Given the description of an element on the screen output the (x, y) to click on. 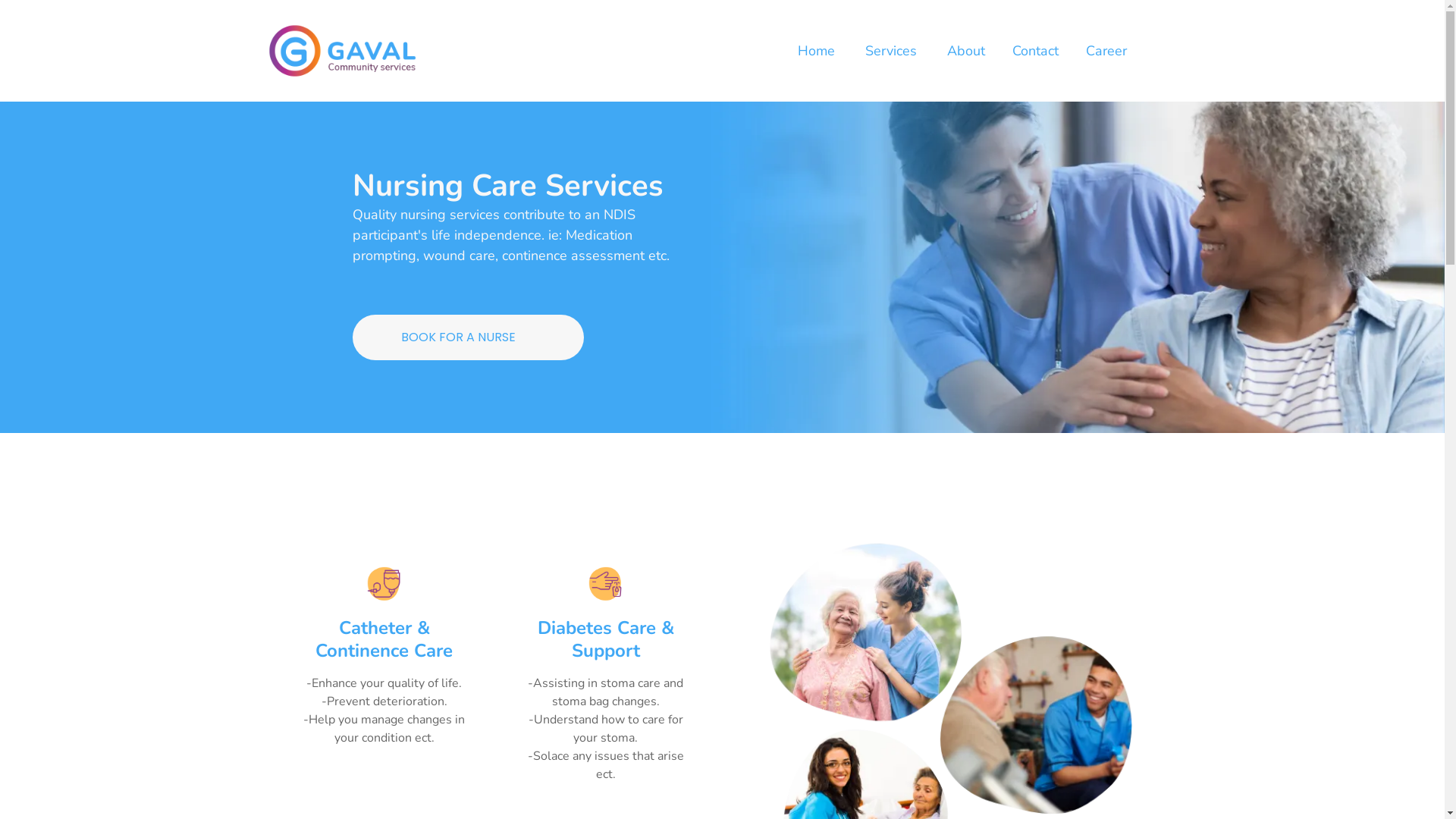
About Element type: text (965, 50)
Home Element type: text (817, 50)
Contact Element type: text (1034, 50)
Services Element type: text (890, 50)
Career Element type: text (1105, 50)
BOOK FOR A NURSE Element type: text (467, 337)
